Given the description of an element on the screen output the (x, y) to click on. 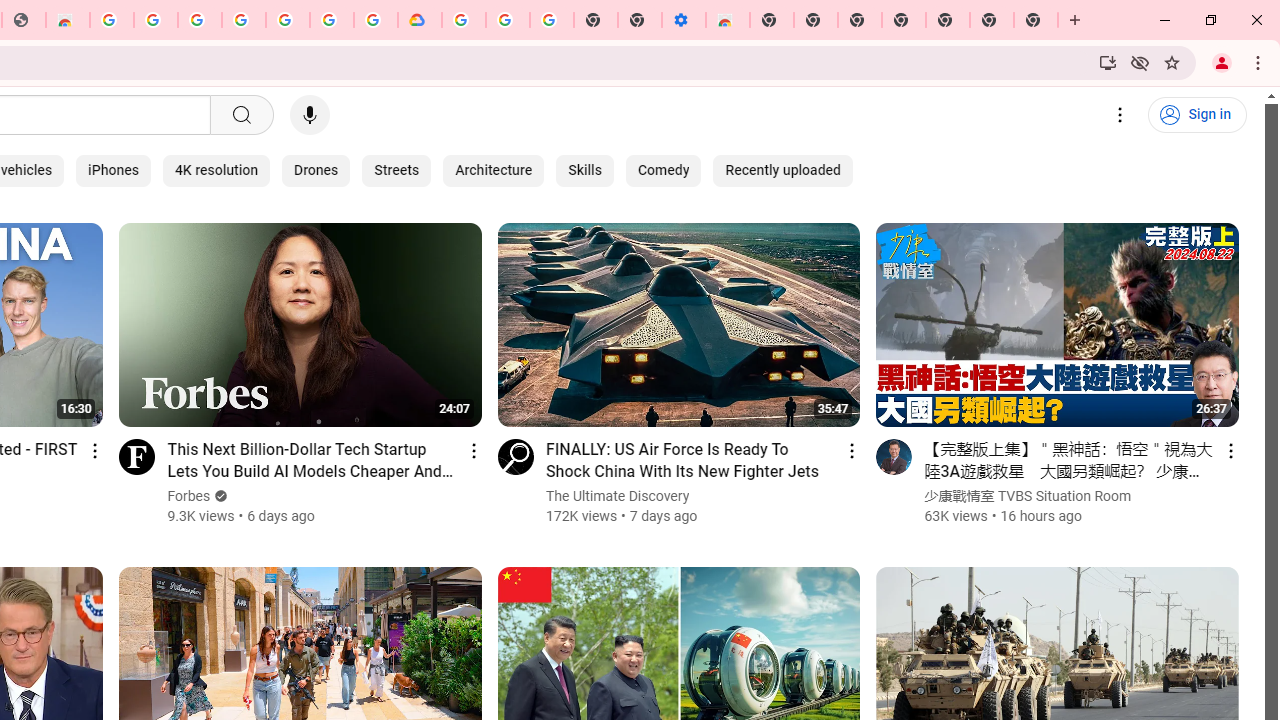
Skills (584, 170)
Comedy (662, 170)
Sign in - Google Accounts (463, 20)
New Tab (1035, 20)
Chrome Web Store - Accessibility extensions (728, 20)
Google Account Help (507, 20)
Architecture (493, 170)
Verified (219, 495)
Forbes (189, 496)
Settings - Accessibility (683, 20)
